Given the description of an element on the screen output the (x, y) to click on. 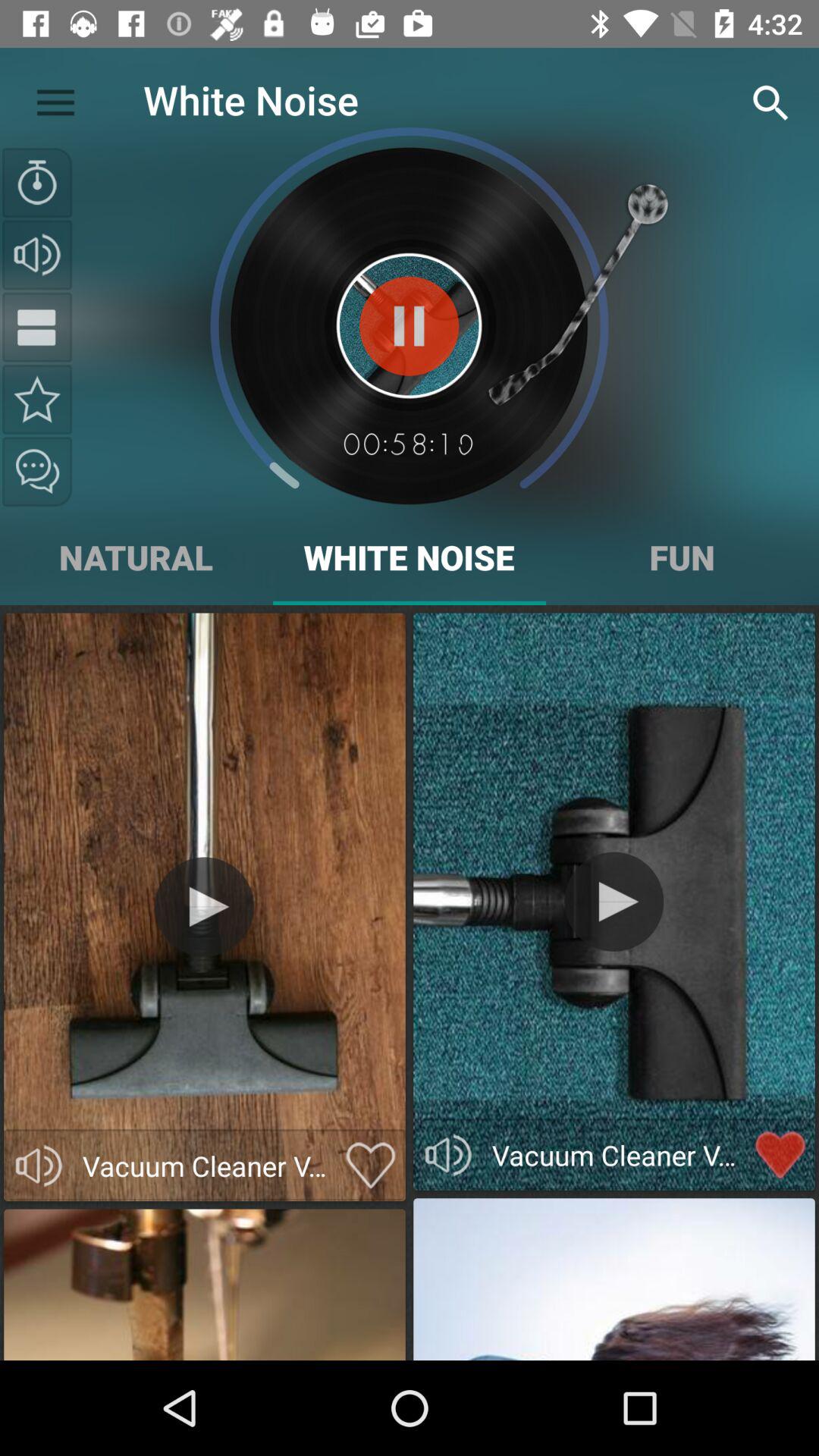
set timer (37, 182)
